Given the description of an element on the screen output the (x, y) to click on. 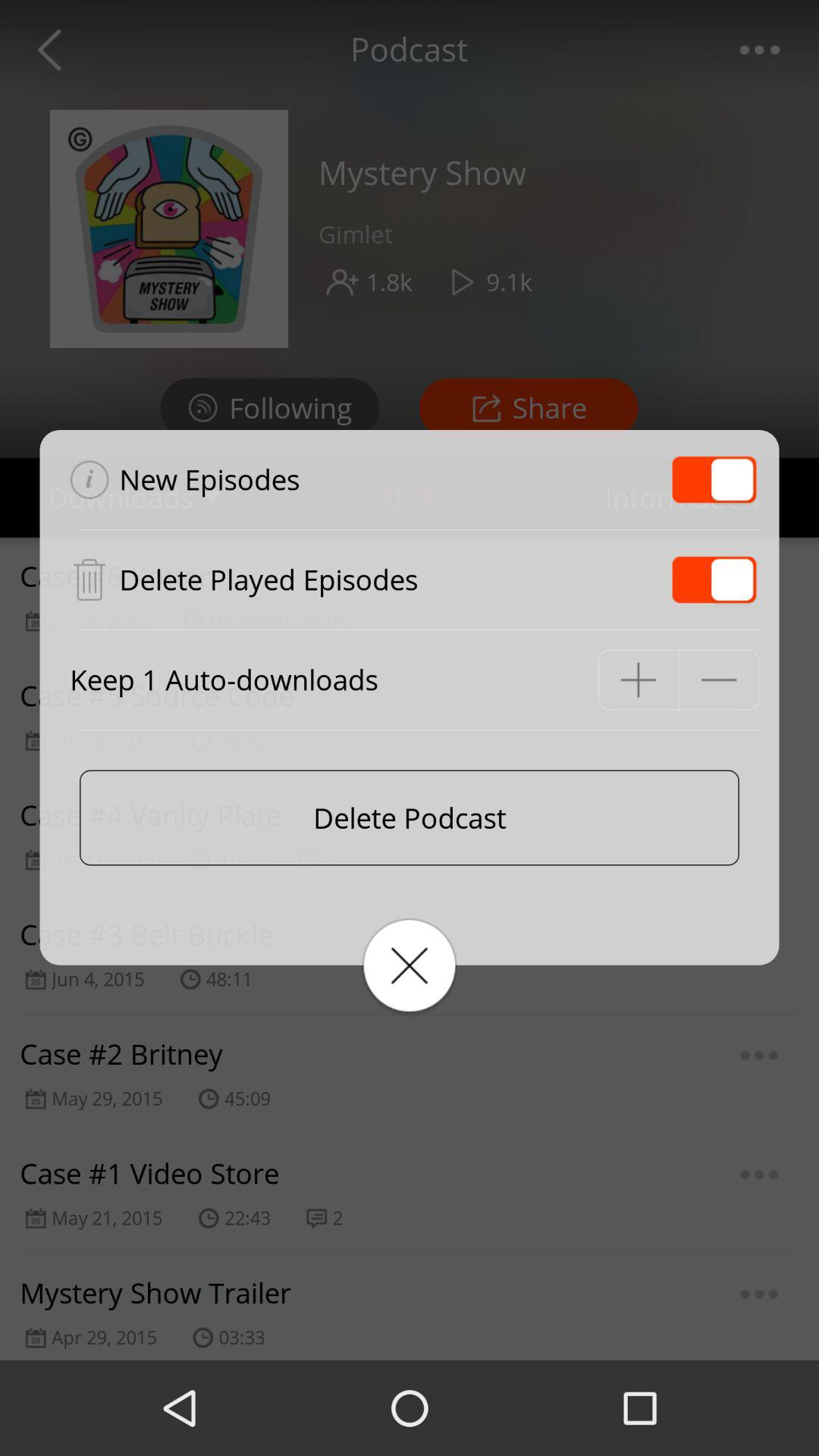
increase number of auto-downloads (638, 679)
